Given the description of an element on the screen output the (x, y) to click on. 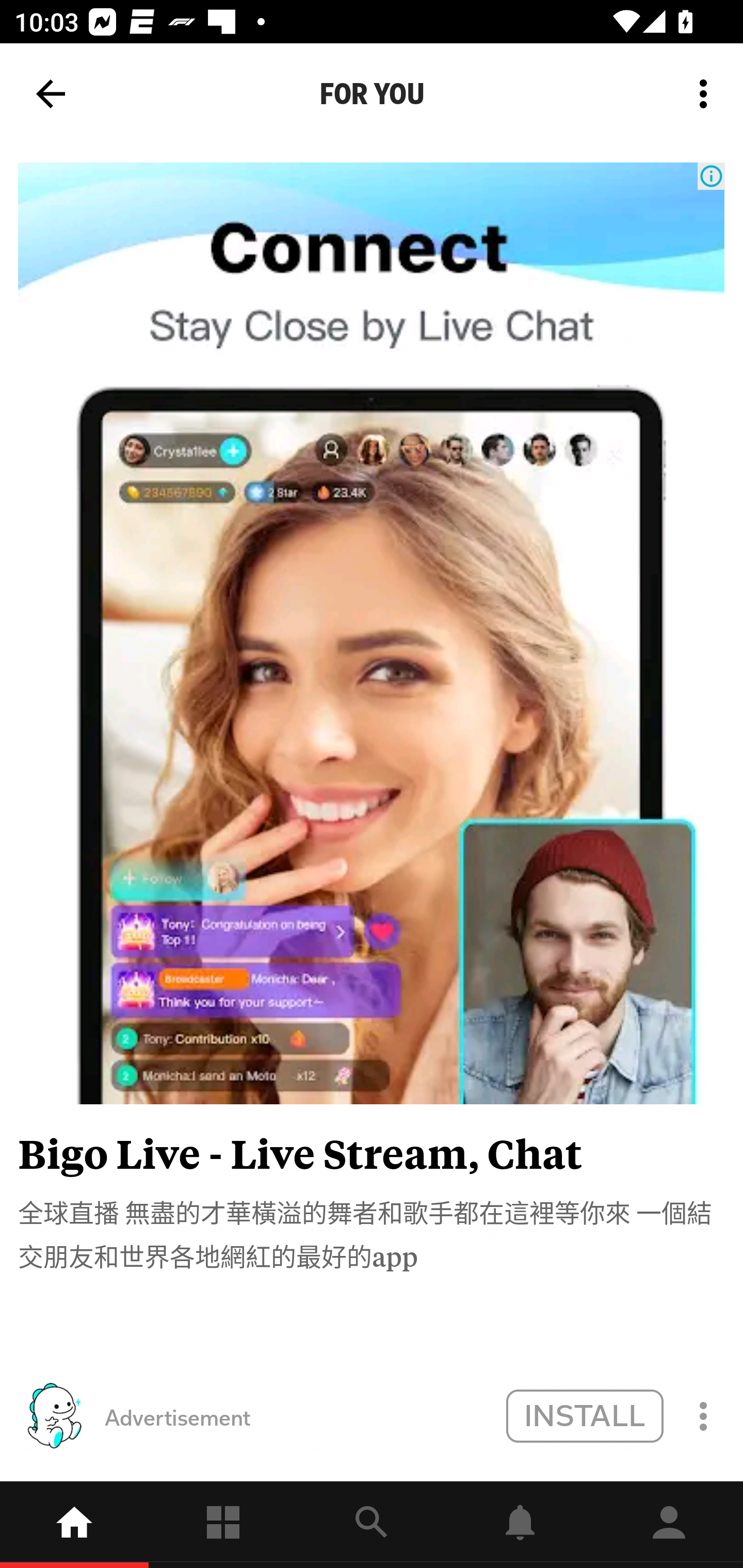
Back (50, 93)
FOR YOU (371, 93)
More options (706, 93)
Ad Choices Icon (711, 176)
全球直播 無盡的才華橫溢的舞者和歌手都在這裡等你來 一個結交朋友和世界各地網紅的最好的app (371, 1233)
INSTALL (584, 1415)
home (74, 1524)
Following (222, 1524)
explore (371, 1524)
Notifications (519, 1524)
Profile (668, 1524)
